Given the description of an element on the screen output the (x, y) to click on. 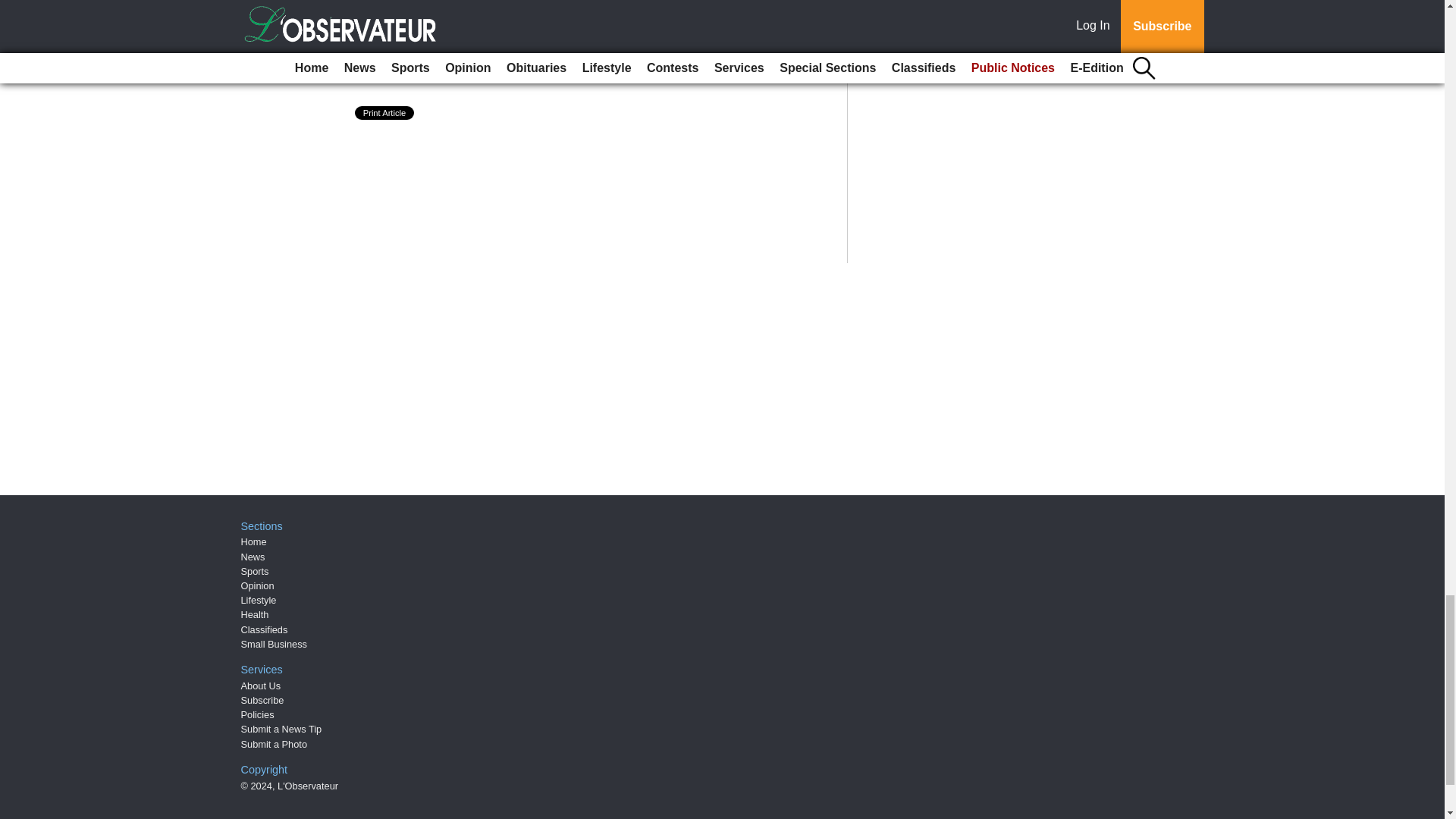
Print Article (384, 112)
